Given the description of an element on the screen output the (x, y) to click on. 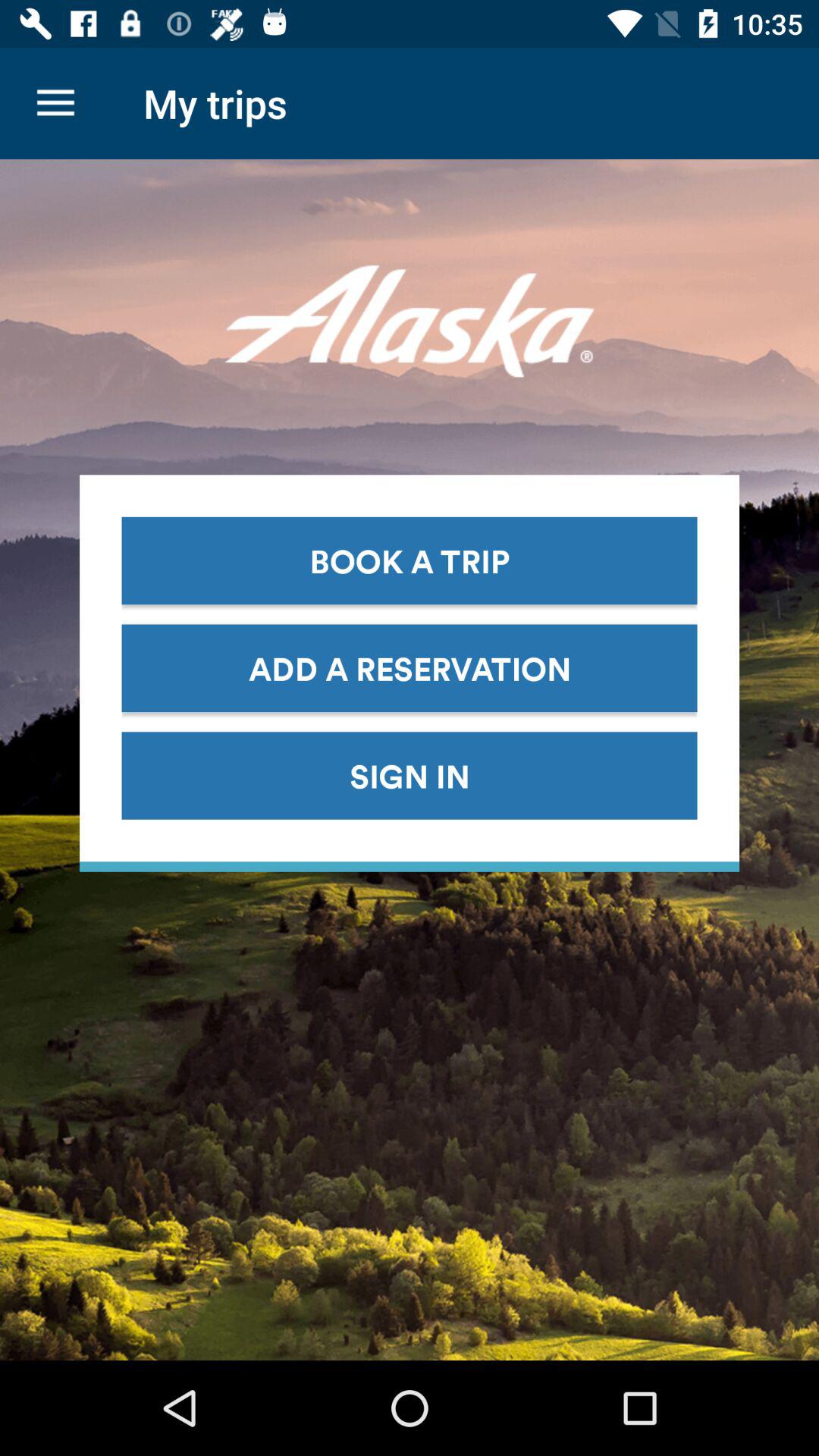
flip to book a trip (409, 560)
